Given the description of an element on the screen output the (x, y) to click on. 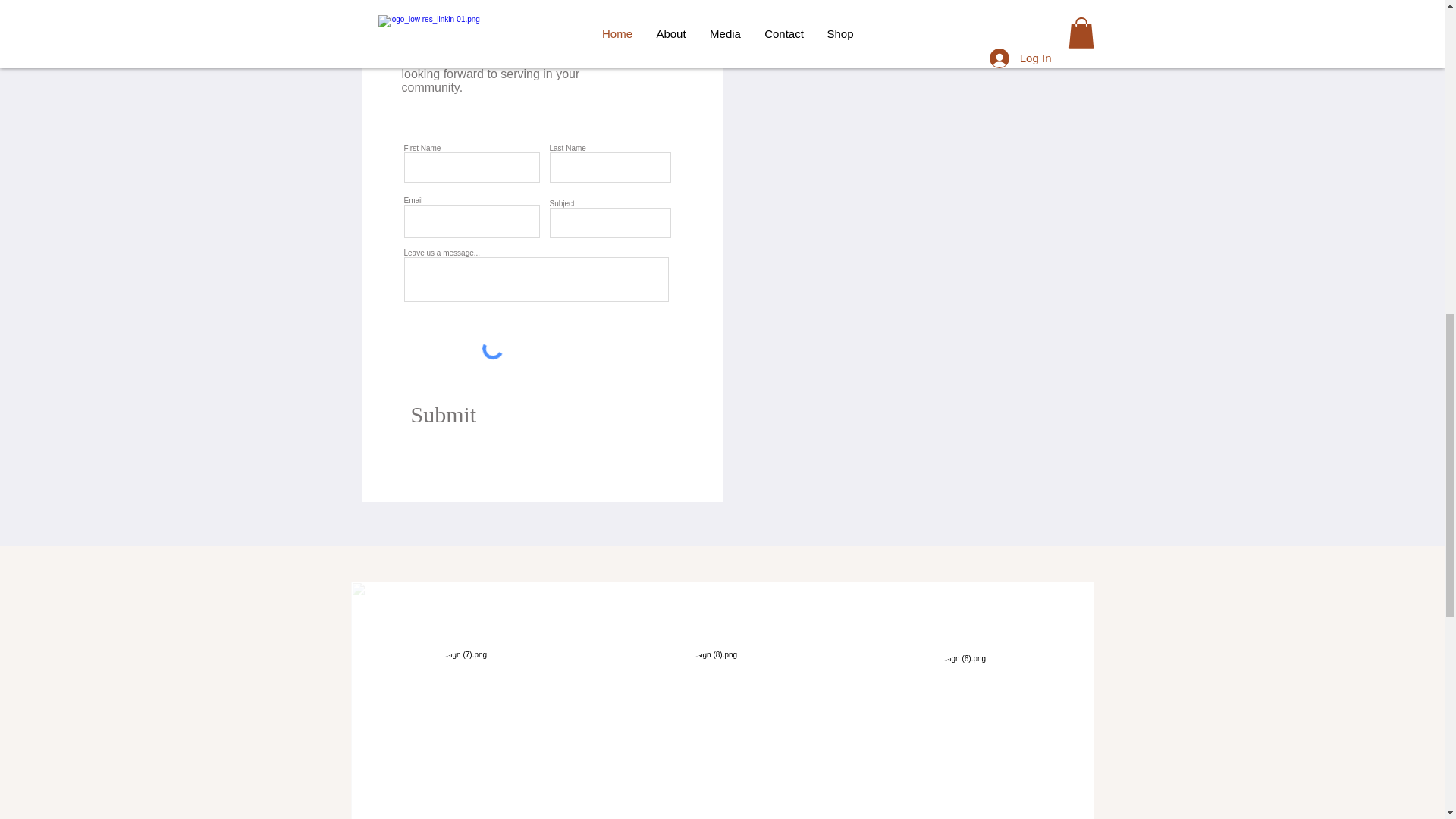
Submit (473, 414)
GettyImages-145680711.jpg (973, 729)
GettyImages-124893619.jpg (724, 726)
GettyImages-535587703.jpg (474, 726)
